Given the description of an element on the screen output the (x, y) to click on. 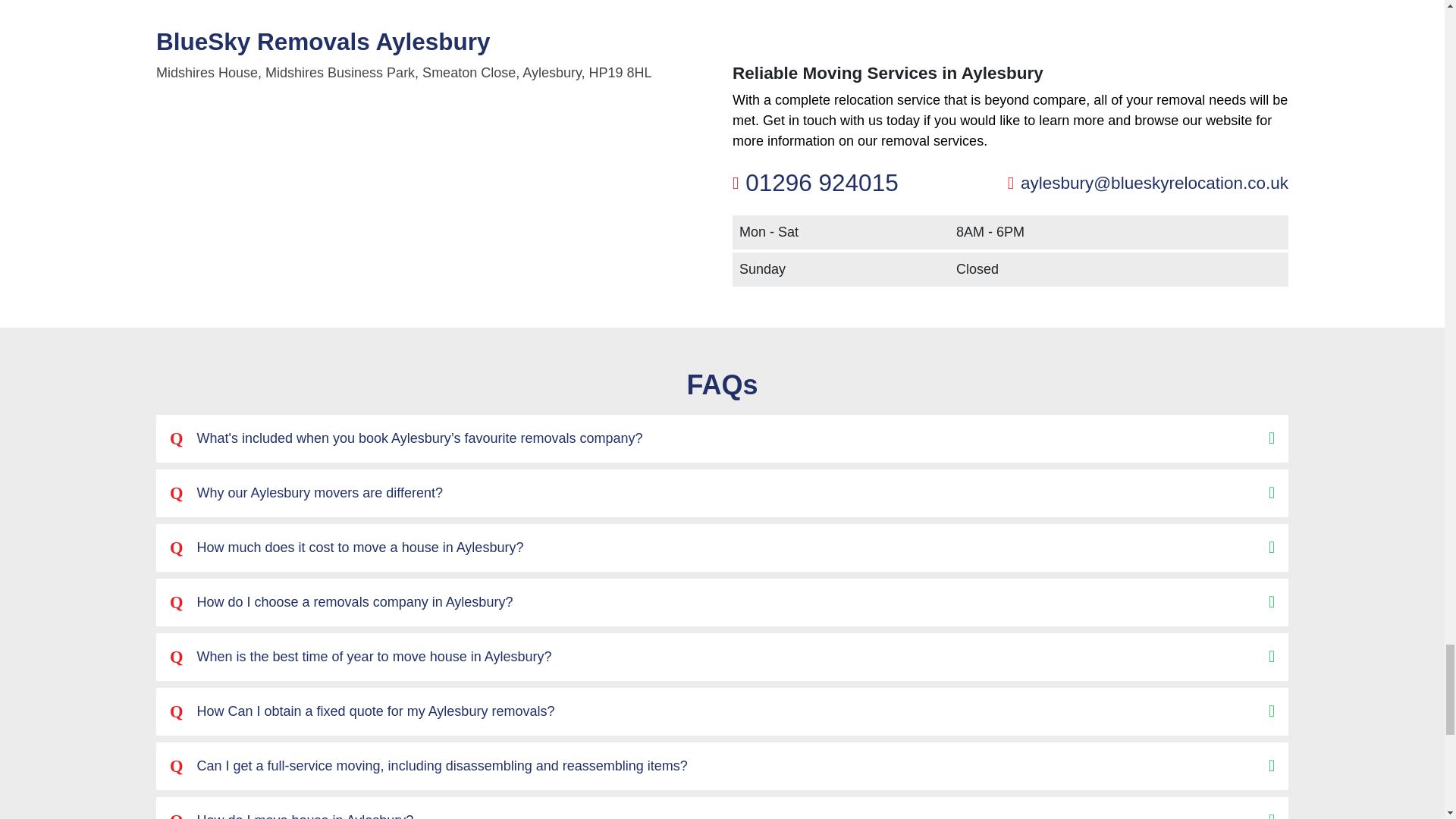
01296 924015 (821, 182)
